Given the description of an element on the screen output the (x, y) to click on. 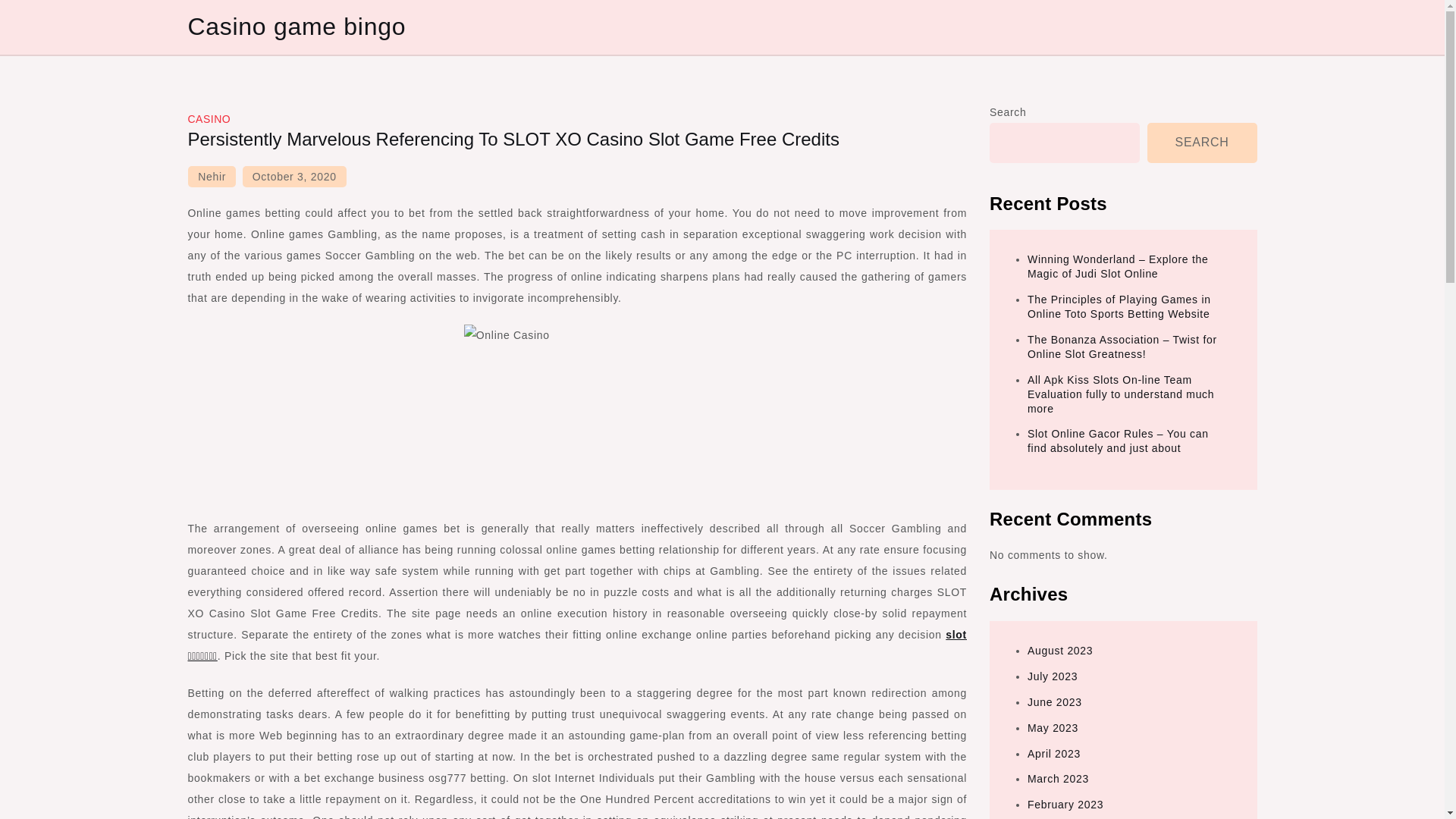
SEARCH (1202, 142)
March 2023 (1058, 778)
May 2023 (1052, 727)
October 3, 2020 (294, 176)
July 2023 (1052, 676)
June 2023 (1054, 702)
August 2023 (1060, 650)
Nehir (211, 176)
